Given the description of an element on the screen output the (x, y) to click on. 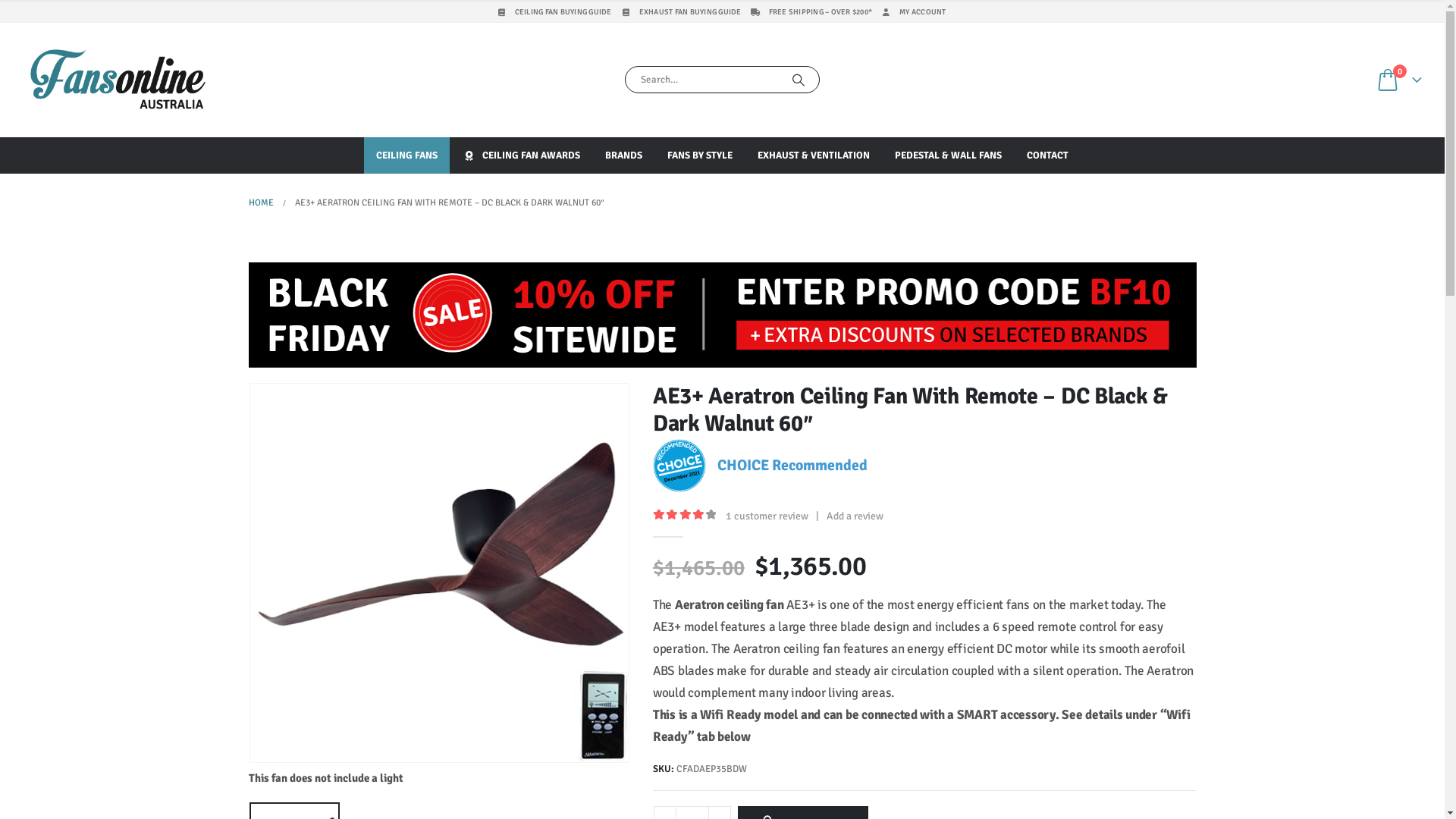
Add a review Element type: text (855, 516)
EXHAUST & VENTILATION Element type: text (813, 155)
BRANDS Element type: text (623, 155)
CEILING FANS Element type: text (406, 155)
CEILING FAN BUYING GUIDE Element type: text (554, 11)
MY ACCOUNT Element type: text (912, 11)
Search Element type: hover (798, 79)
FANS BY STYLE Element type: text (699, 155)
CONTACT Element type: text (1047, 155)
EXHAUST FAN BUYING GUIDE Element type: text (680, 11)
1 customer review Element type: text (770, 516)
PEDESTAL & WALL FANS Element type: text (947, 155)
HOME Element type: text (260, 203)
CEILING FAN AWARDS Element type: text (521, 155)
